Given the description of an element on the screen output the (x, y) to click on. 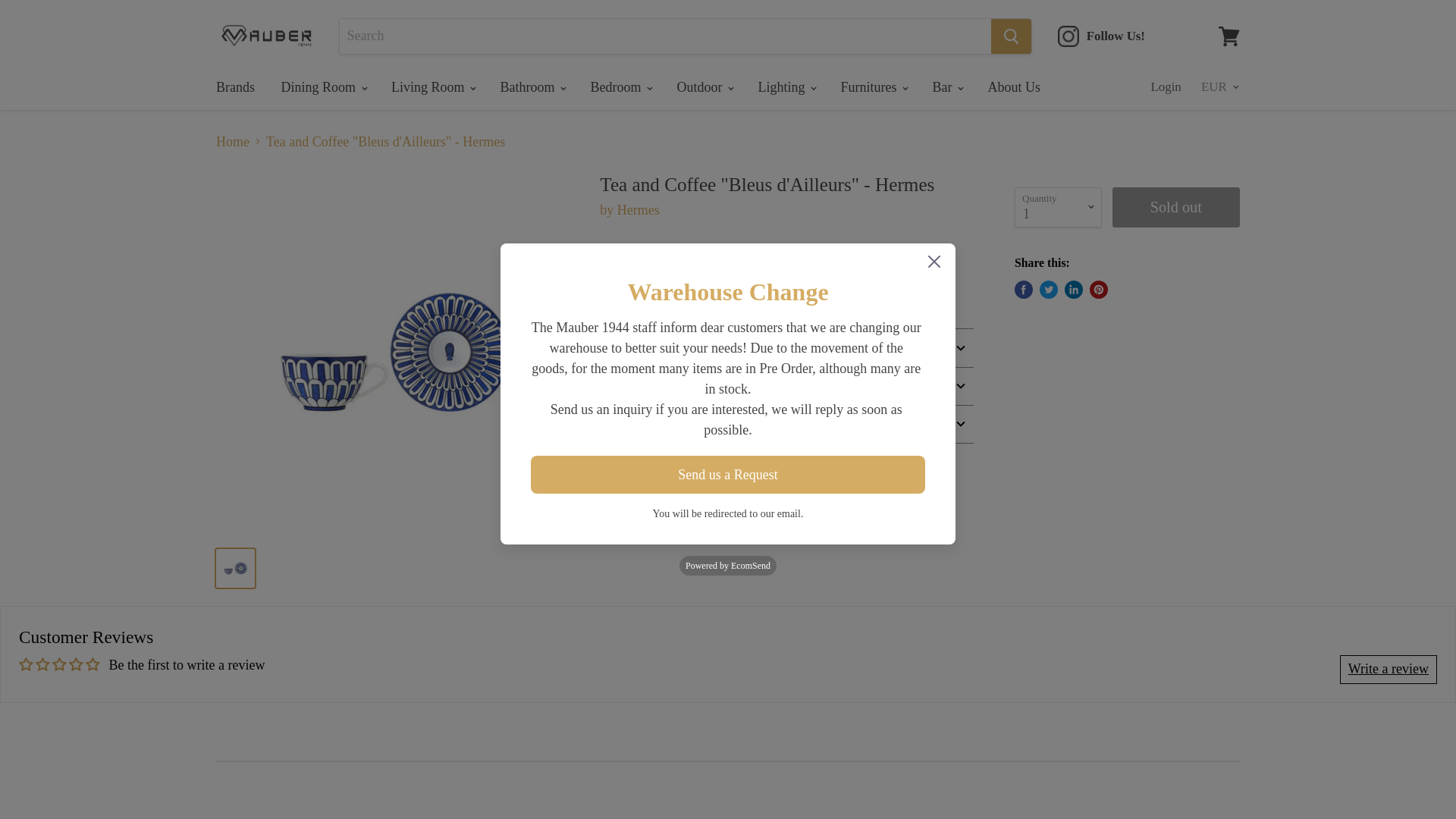
Brands (235, 87)
Hermes (638, 209)
Living Room (432, 87)
Dining Room (323, 87)
View cart (1229, 35)
